Given the description of an element on the screen output the (x, y) to click on. 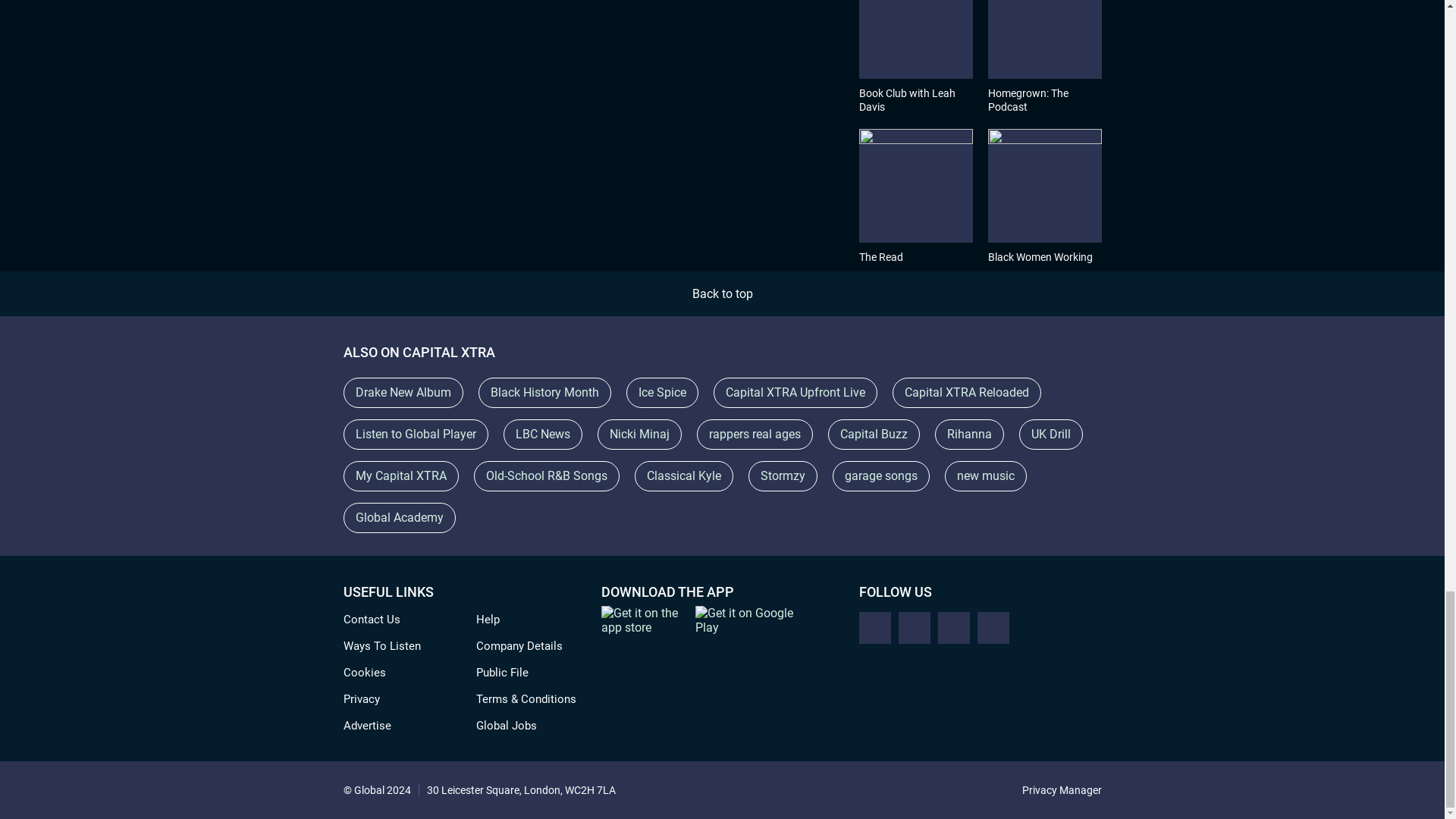
Back to top (721, 293)
Follow CapitalXtra on Instagram (953, 627)
Follow CapitalXtra on Youtube (992, 627)
Follow CapitalXtra on X (874, 627)
Follow CapitalXtra on Facebook (914, 627)
